Given the description of an element on the screen output the (x, y) to click on. 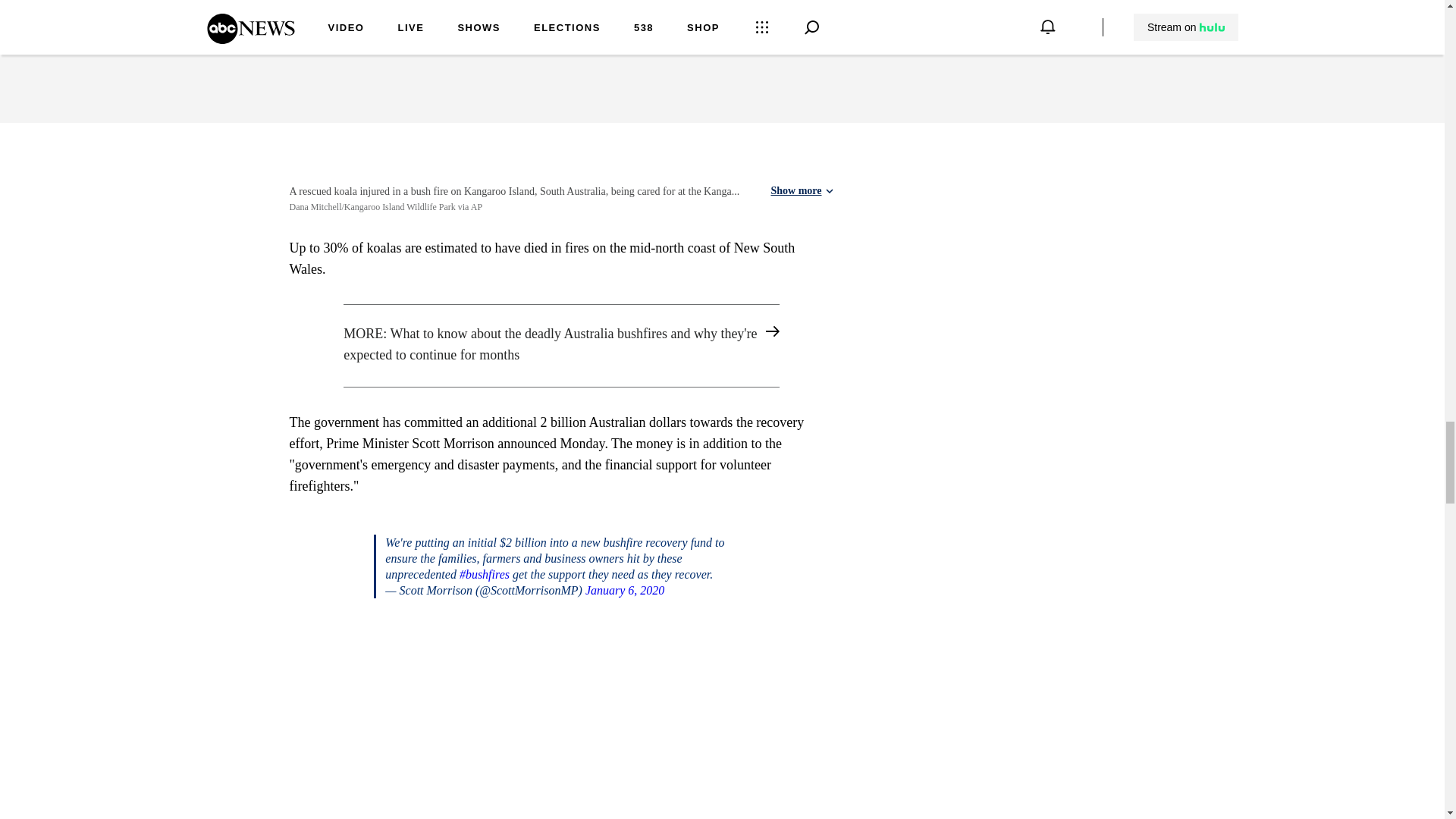
January 6, 2020 (624, 590)
Show more (801, 191)
